Given the description of an element on the screen output the (x, y) to click on. 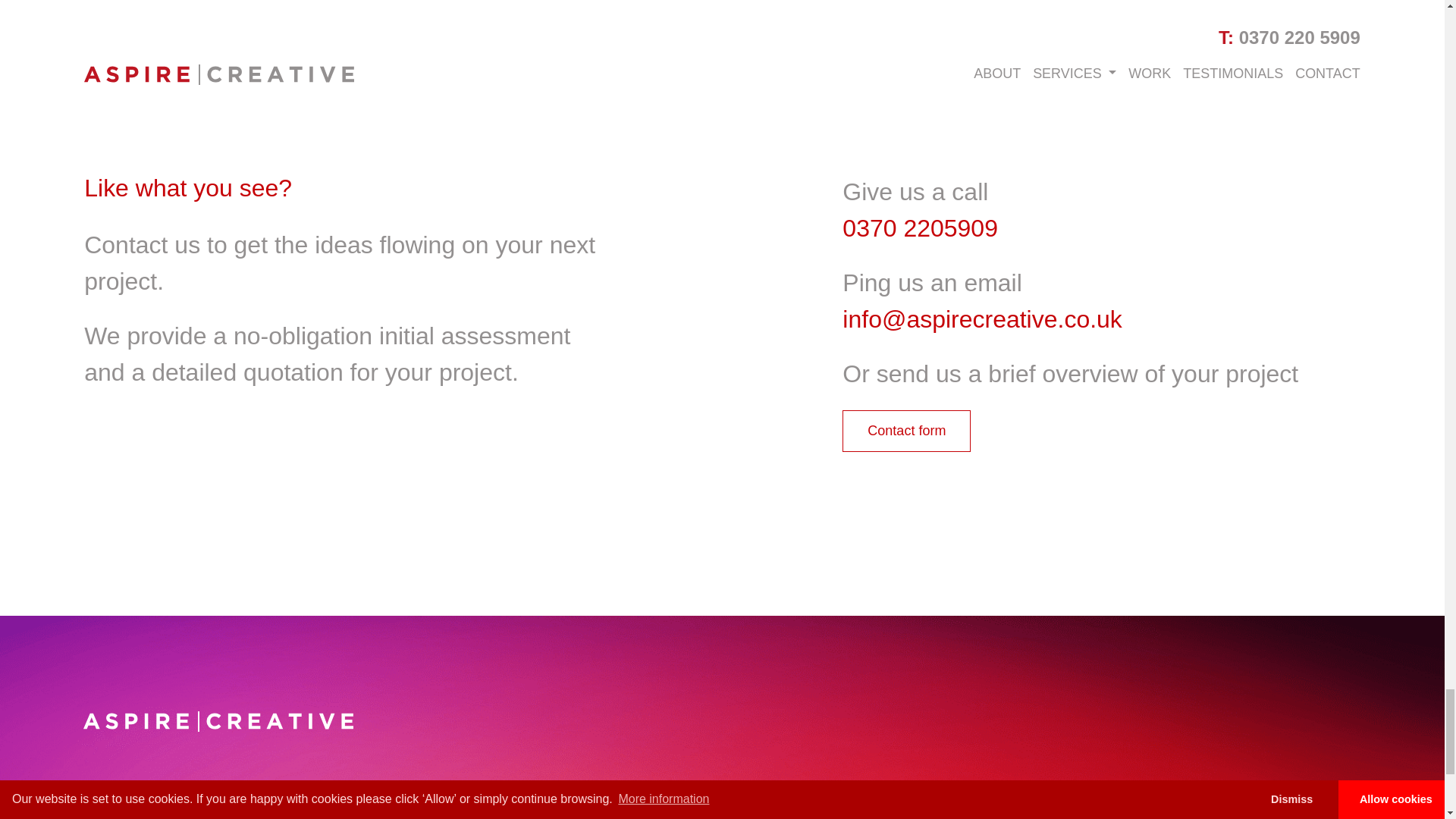
0370 2205909 (920, 227)
ABOUT (937, 789)
Contact form (907, 431)
WORK (486, 789)
CONTACT US (1180, 789)
SERVICES (724, 789)
